Given the description of an element on the screen output the (x, y) to click on. 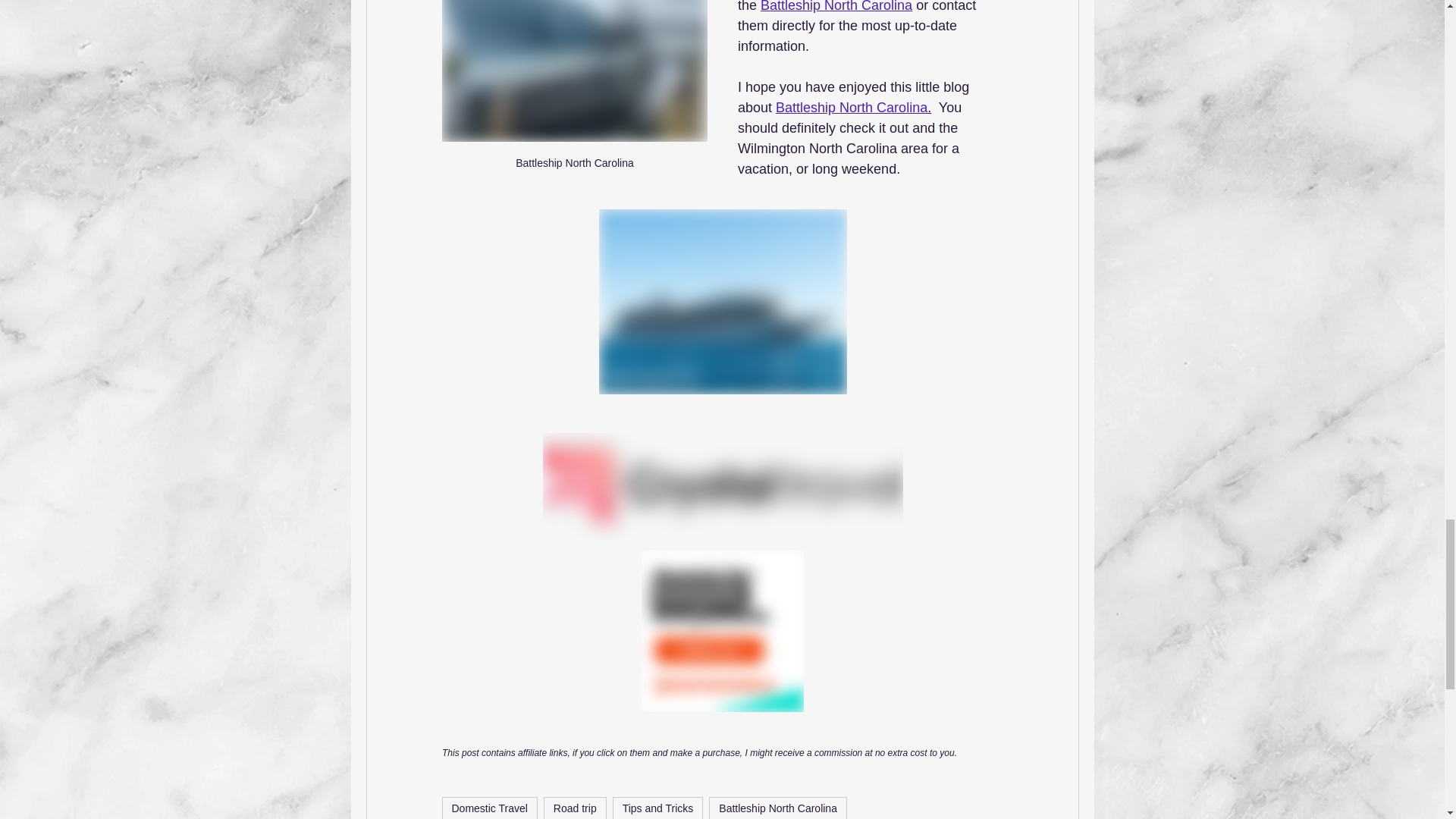
Battleship North Carolina (851, 106)
Battleship North Carolina (573, 97)
Battleship North Carolina (836, 6)
